Given the description of an element on the screen output the (x, y) to click on. 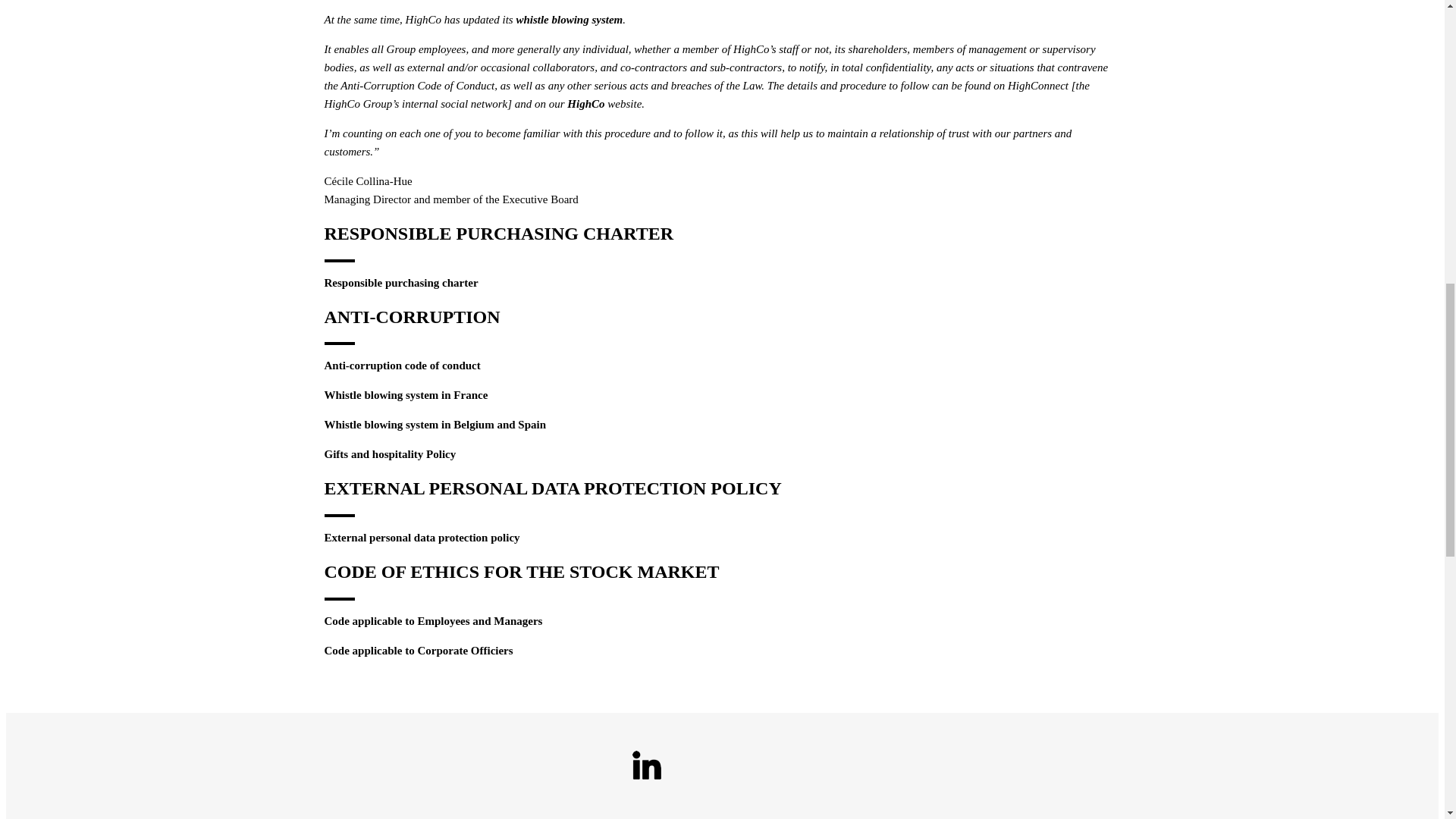
Code applicable to Corporate Officiers (418, 650)
Whistle blowing system in Belgium and Spain (435, 424)
Code applicable to Employees and Managers (433, 621)
External personal data protection policy (421, 537)
Gifts and hospitality Policy (390, 453)
Whistle blowing system in France (405, 395)
Anti-corruption code of conduct (402, 365)
whistle blowing system (569, 19)
HighCo (585, 103)
Responsible purchasing charter (401, 282)
